Given the description of an element on the screen output the (x, y) to click on. 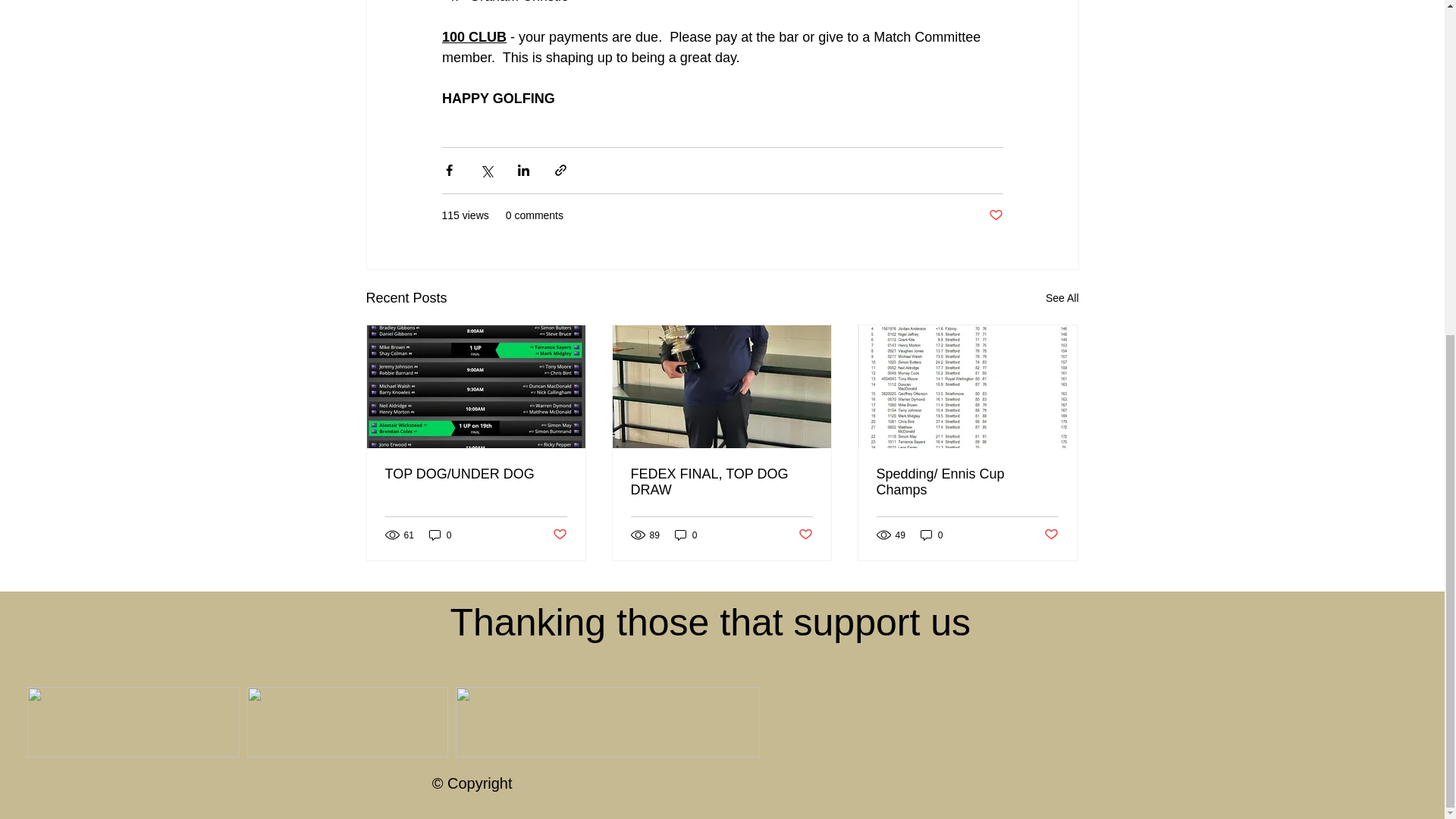
See All (1061, 298)
Post not marked as liked (1050, 534)
0 (931, 534)
Post not marked as liked (804, 534)
Post not marked as liked (995, 214)
Post not marked as liked (558, 534)
FEDEX FINAL, TOP DOG DRAW (721, 481)
0 (685, 534)
0 (440, 534)
